Given the description of an element on the screen output the (x, y) to click on. 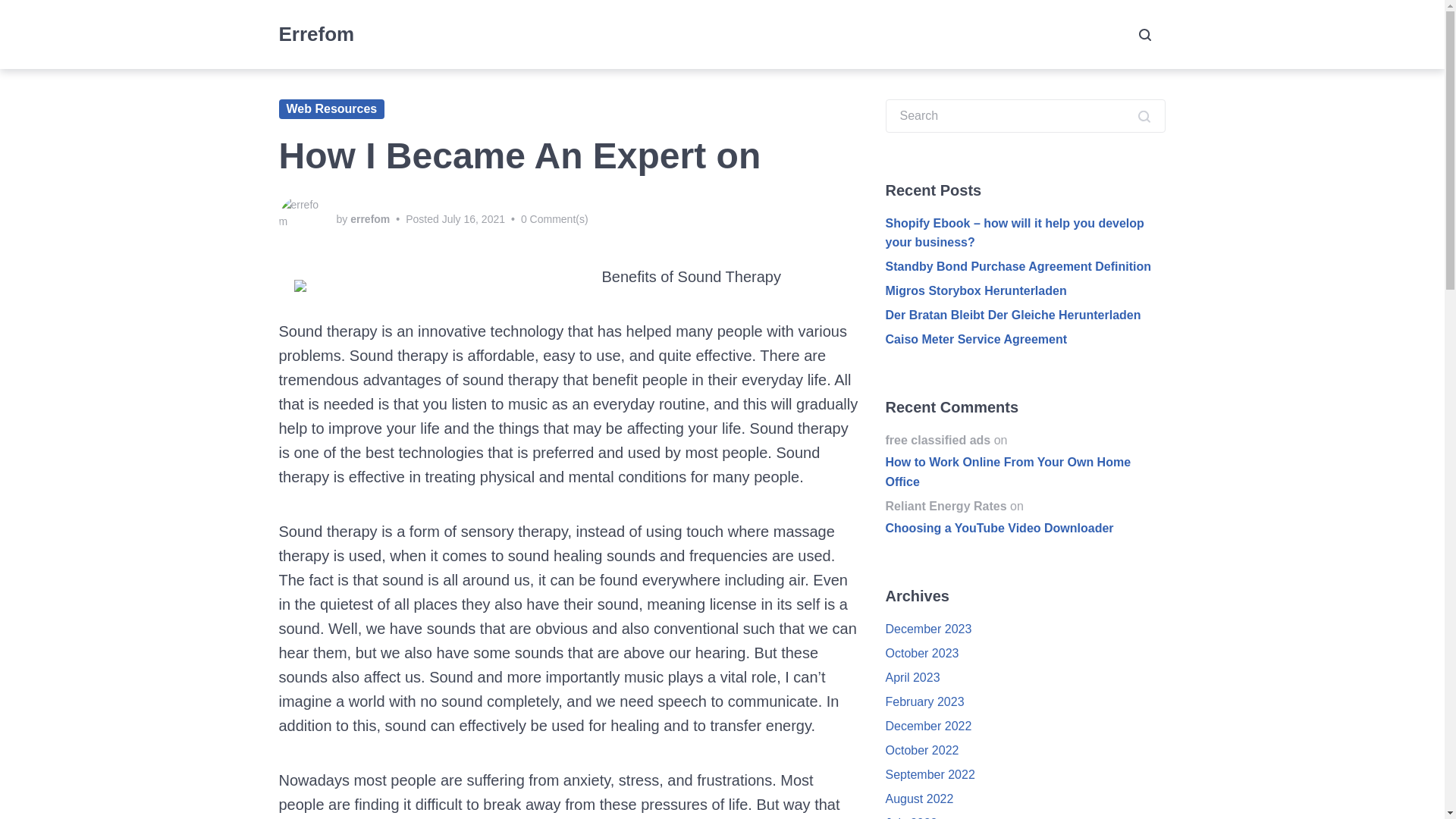
December 2022 (928, 725)
September 2022 (930, 774)
Reliant Energy Rates (946, 505)
Caiso Meter Service Agreement (976, 338)
February 2023 (924, 701)
Migros Storybox Herunterladen (976, 290)
October 2023 (922, 653)
December 2023 (928, 628)
July 2022 (911, 817)
free classified ads (938, 440)
